Given the description of an element on the screen output the (x, y) to click on. 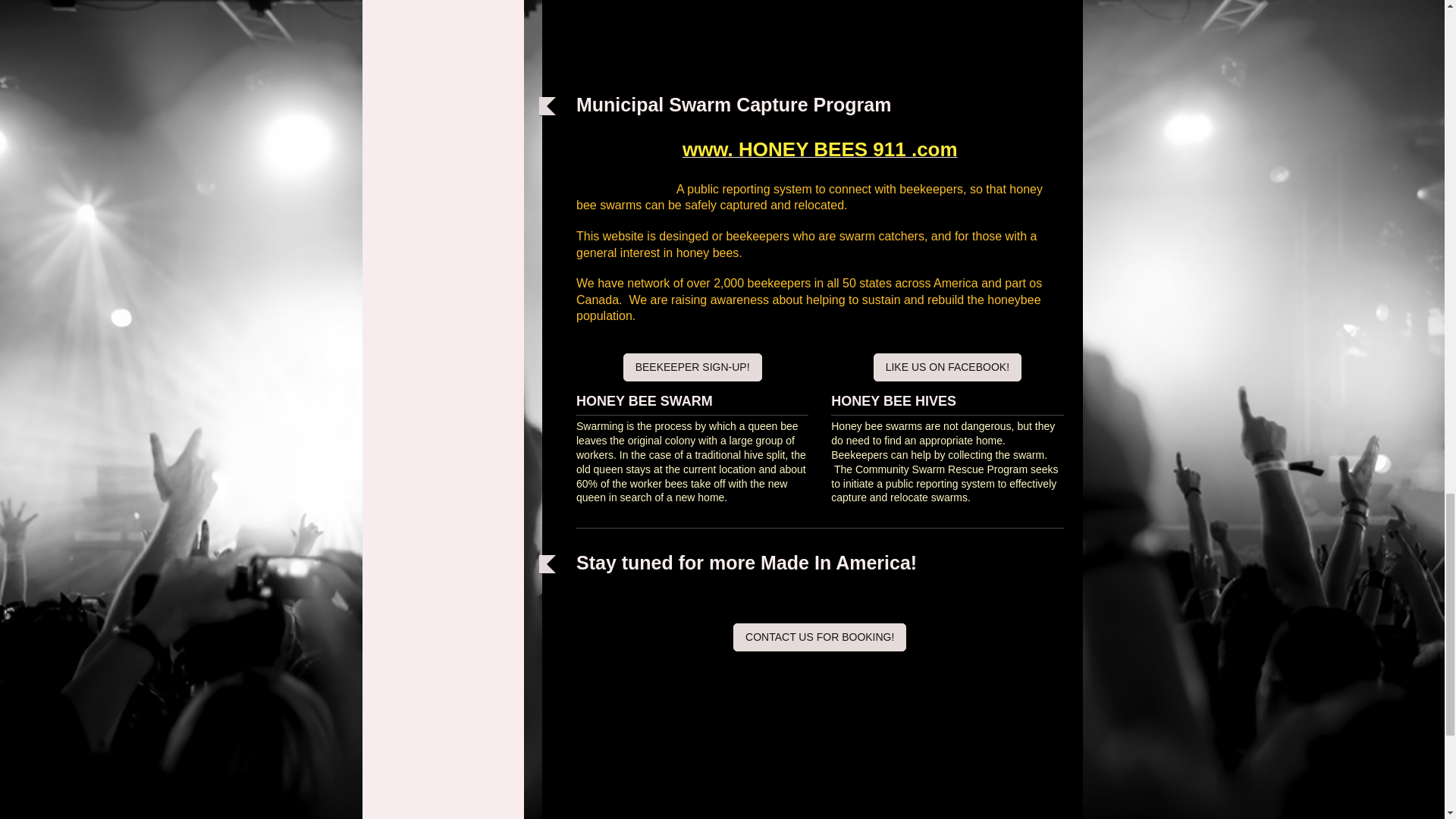
CONTACT US FOR BOOKING! (819, 637)
LIKE US ON FACEBOOK! (947, 366)
www. HONEY BEES 911 .com (820, 152)
BEEKEEPER SIGN-UP! (692, 366)
